Given the description of an element on the screen output the (x, y) to click on. 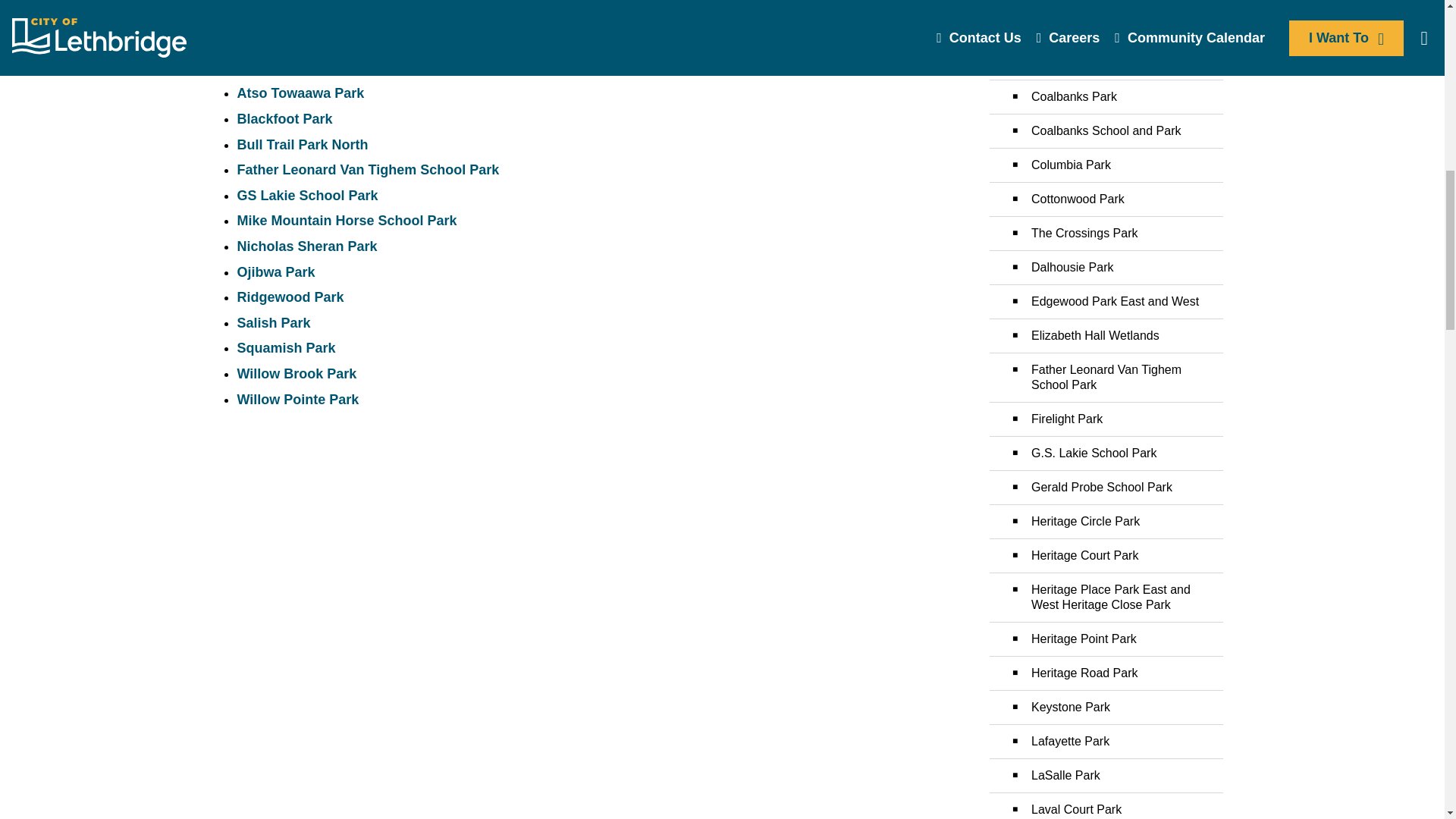
GS Lakie School Park (306, 195)
Nicholas Sheran Park (306, 246)
Mike Mountain Horse School Park (346, 220)
Father Leonard Van Tighem School Park (367, 169)
Nicholas Sheran Park (306, 246)
Willow Pointe Park (296, 399)
Mike Mountain Horse School Park (346, 220)
Willow Pointe Park (296, 399)
Blackfoot Park (283, 118)
Squamish Park (284, 347)
Bull Trail Park North (301, 144)
Ridgewood Park (289, 296)
Ojibwa Park (274, 272)
Salish Park (272, 322)
Ojibwa Park (274, 272)
